Given the description of an element on the screen output the (x, y) to click on. 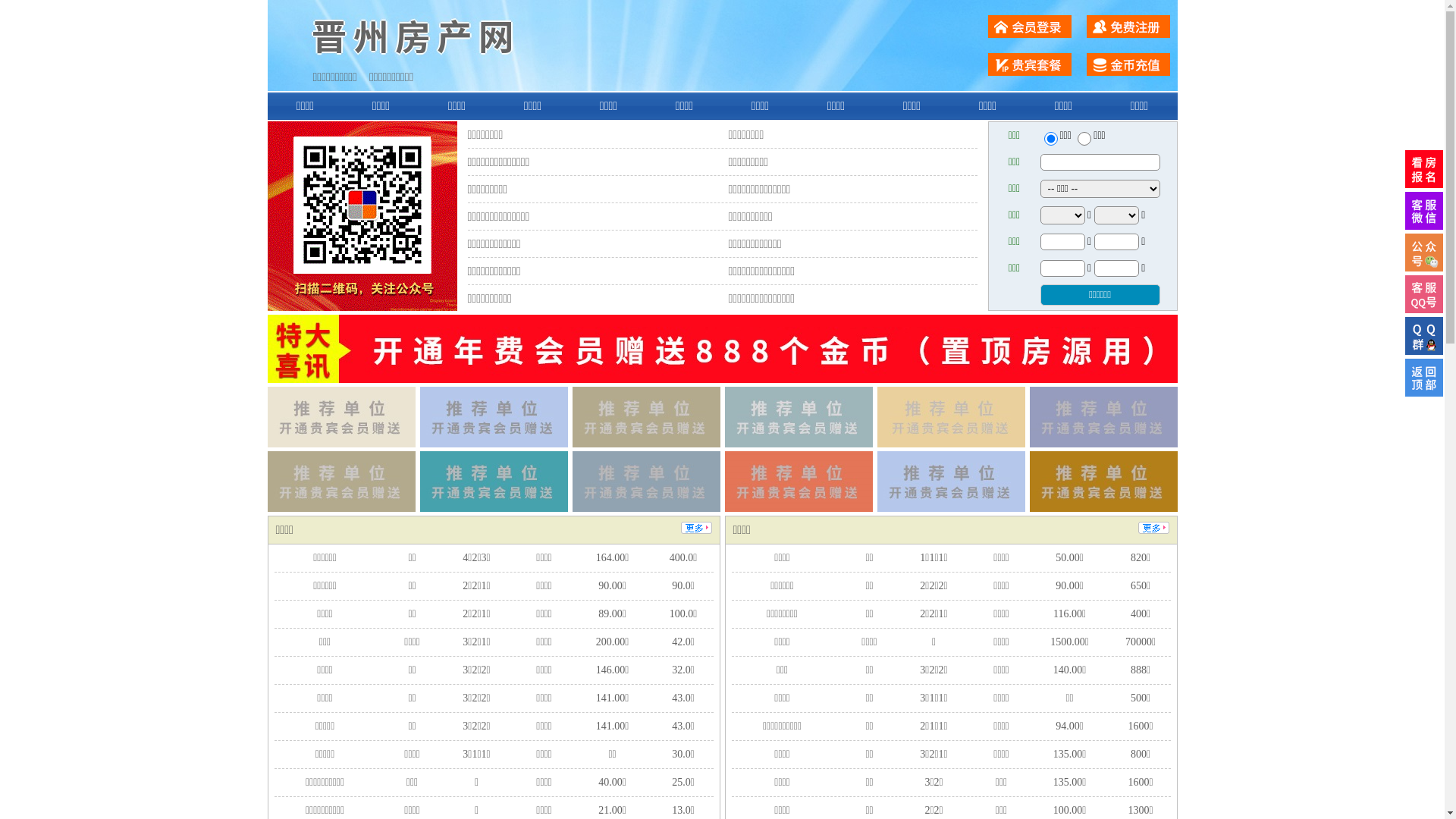
chuzu Element type: text (1084, 138)
ershou Element type: text (1050, 138)
